Given the description of an element on the screen output the (x, y) to click on. 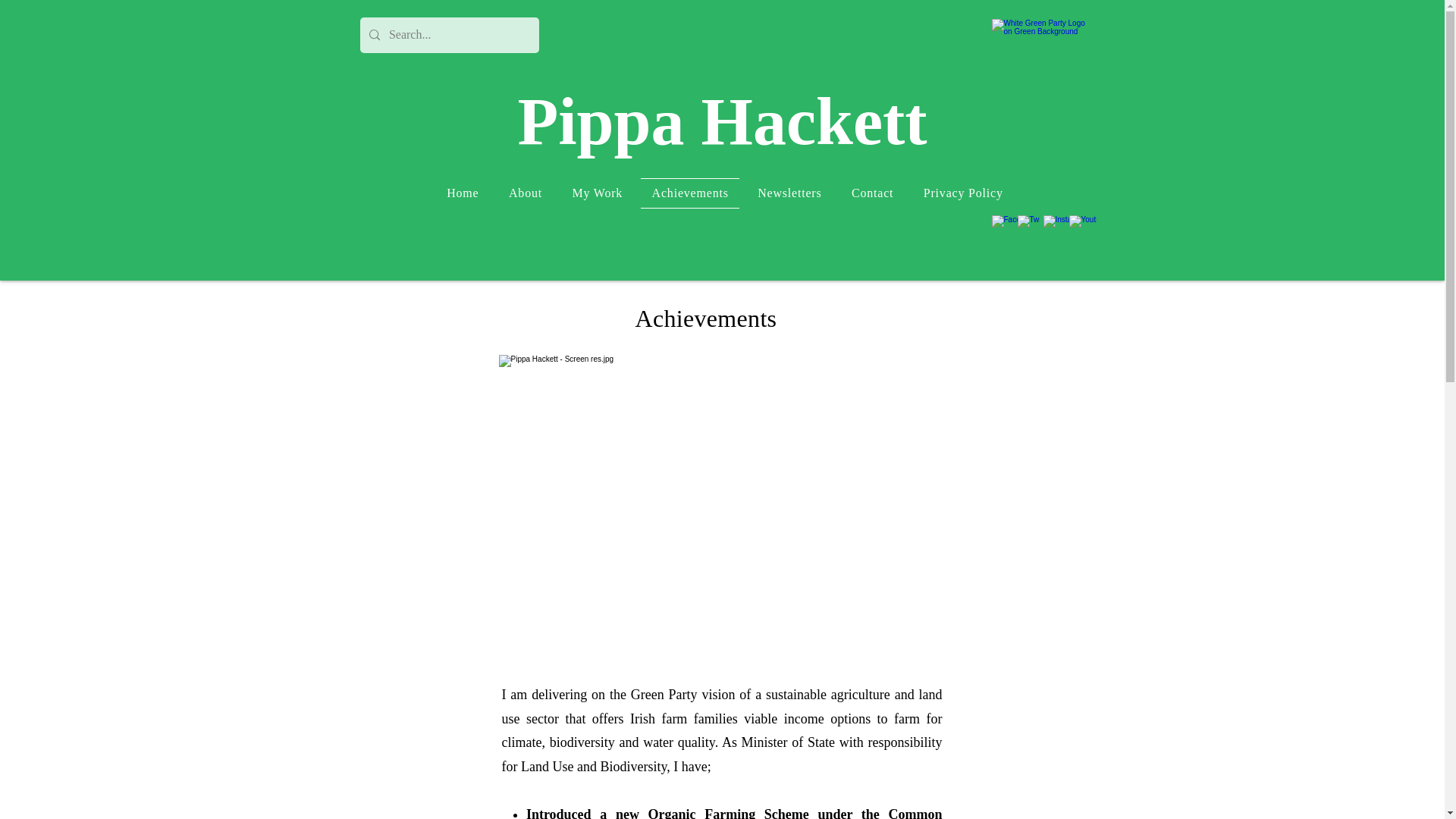
About (524, 193)
My Work (597, 193)
Contact (872, 193)
Privacy Policy (962, 193)
Home (463, 193)
Achievements (689, 193)
